Given the description of an element on the screen output the (x, y) to click on. 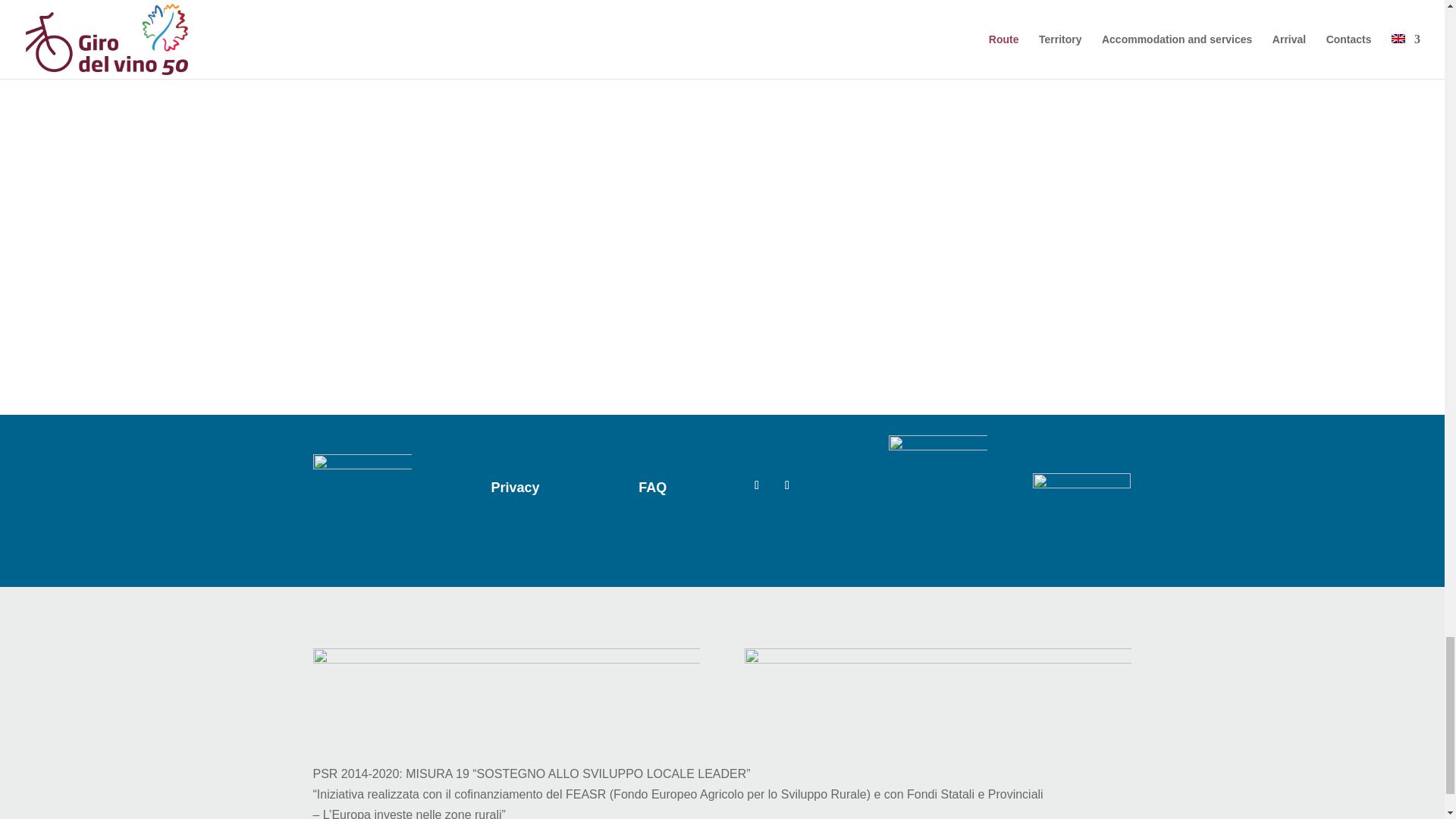
Asset 2 (1081, 489)
Footer 2 (937, 685)
Follow on Facebook (756, 485)
LOGO PRK CENTRATO PNG (937, 467)
Follow on Instagram (786, 485)
Logo bianco (361, 475)
Footer 1 (505, 685)
